Given the description of an element on the screen output the (x, y) to click on. 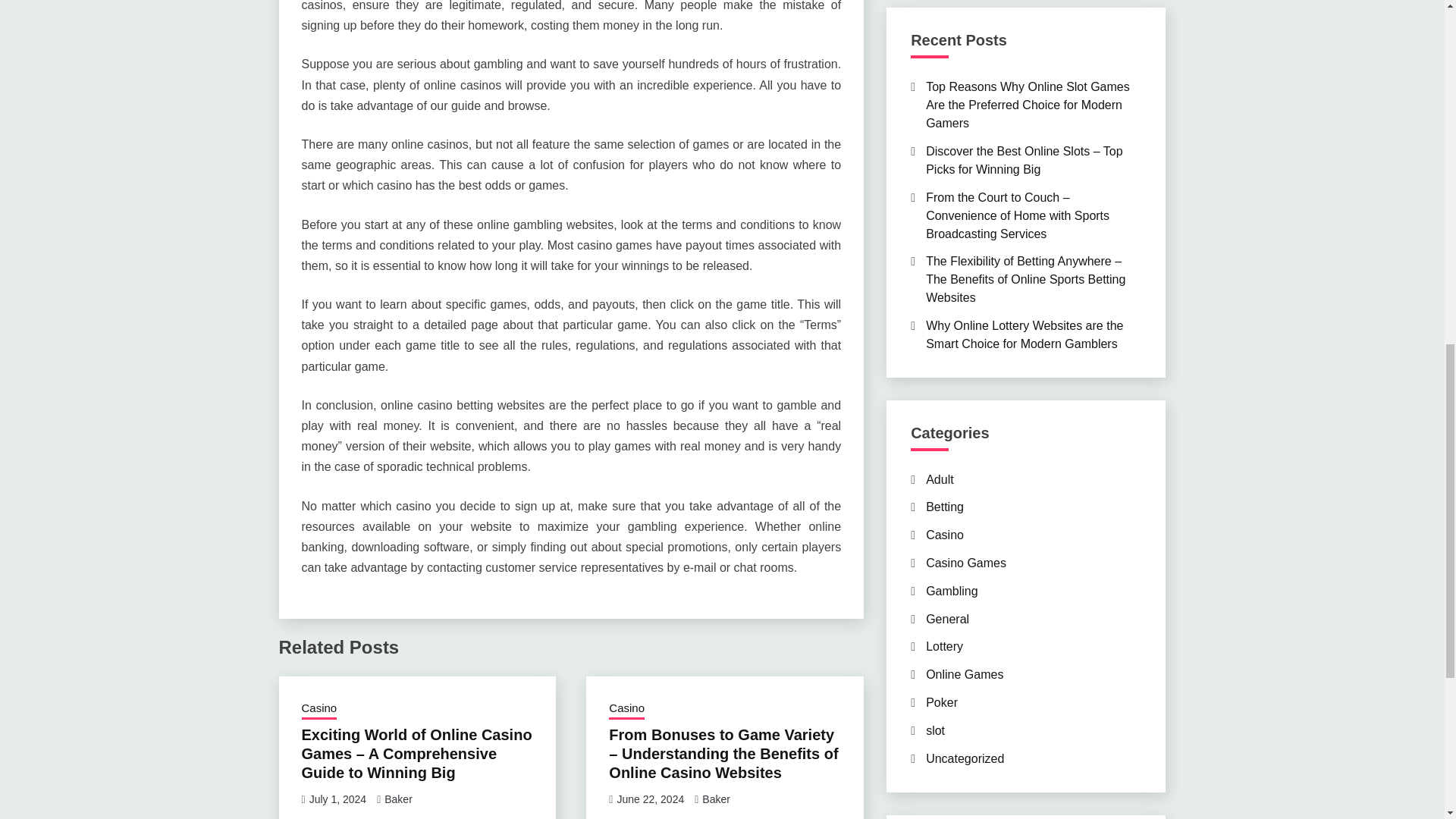
Adult (939, 479)
Casino Games (966, 562)
July 1, 2024 (337, 799)
June 22, 2024 (649, 799)
Casino (626, 709)
Betting (944, 506)
Gambling (951, 590)
Casino (944, 534)
Baker (398, 799)
Casino (319, 709)
Baker (715, 799)
